Given the description of an element on the screen output the (x, y) to click on. 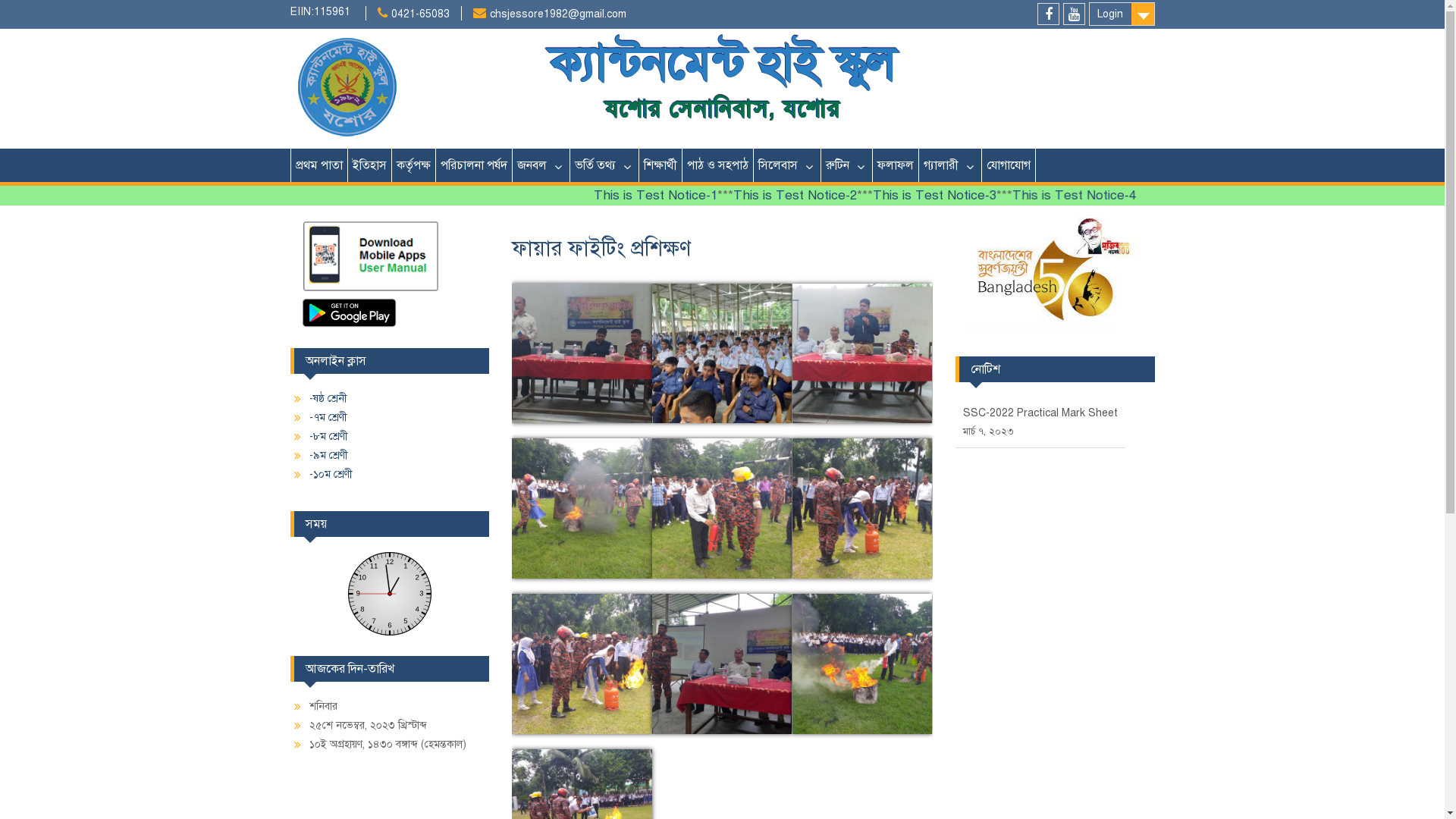
YouTube Element type: text (1074, 14)
This is Test Notice-3 Element type: text (986, 195)
This is Test Notice-1 Element type: text (708, 195)
SSC-2022 Practical Mark Sheet Element type: text (1040, 412)
FB Element type: text (1048, 14)
This is Test Notice-4 Element type: text (1125, 195)
chsjessore1982@gmail.com Element type: text (557, 13)
Login Element type: text (1121, 13)
0421-65083 Element type: text (420, 13)
This is Test Notice-2 Element type: text (848, 195)
